Given the description of an element on the screen output the (x, y) to click on. 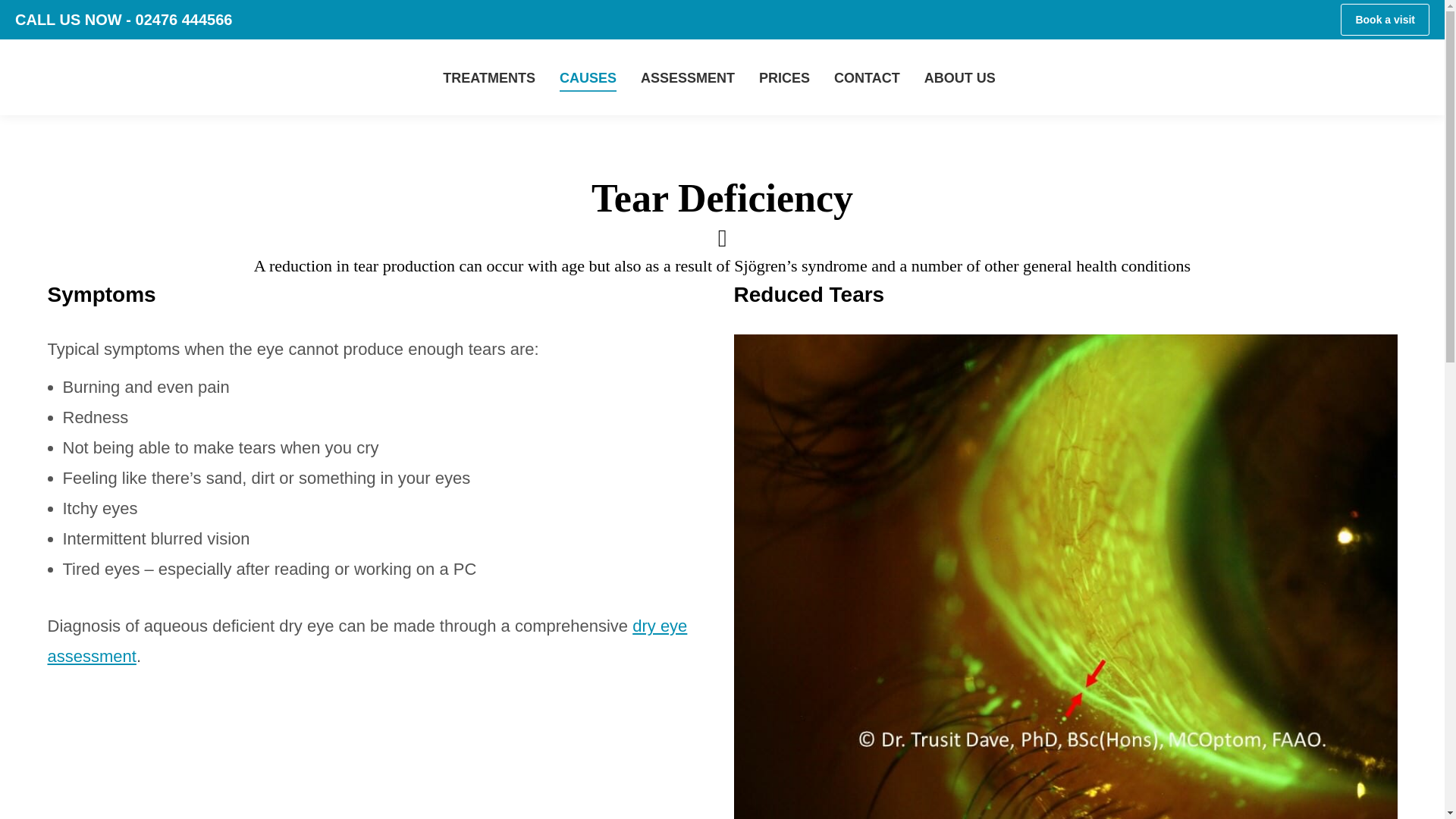
ABOUT US (959, 77)
TREATMENTS (488, 77)
dry eye assessment (366, 640)
CAUSES (588, 77)
CONTACT (866, 77)
ASSESSMENT (687, 77)
Book a visit (1384, 20)
PRICES (783, 77)
